Given the description of an element on the screen output the (x, y) to click on. 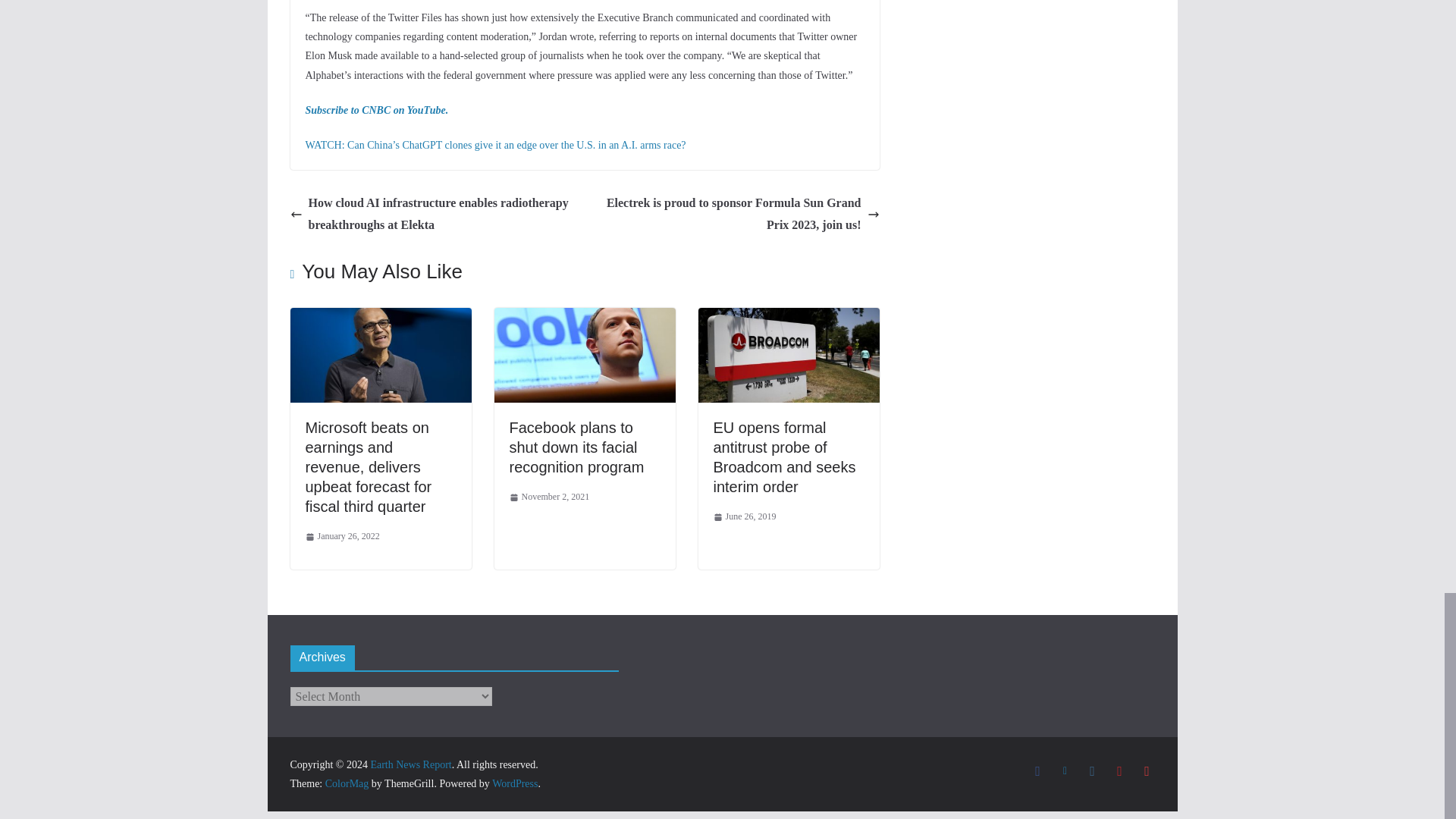
Facebook plans to shut down its facial recognition program (585, 318)
4:12 am (341, 536)
Facebook plans to shut down its facial recognition program (577, 447)
8:02 pm (549, 497)
